Given the description of an element on the screen output the (x, y) to click on. 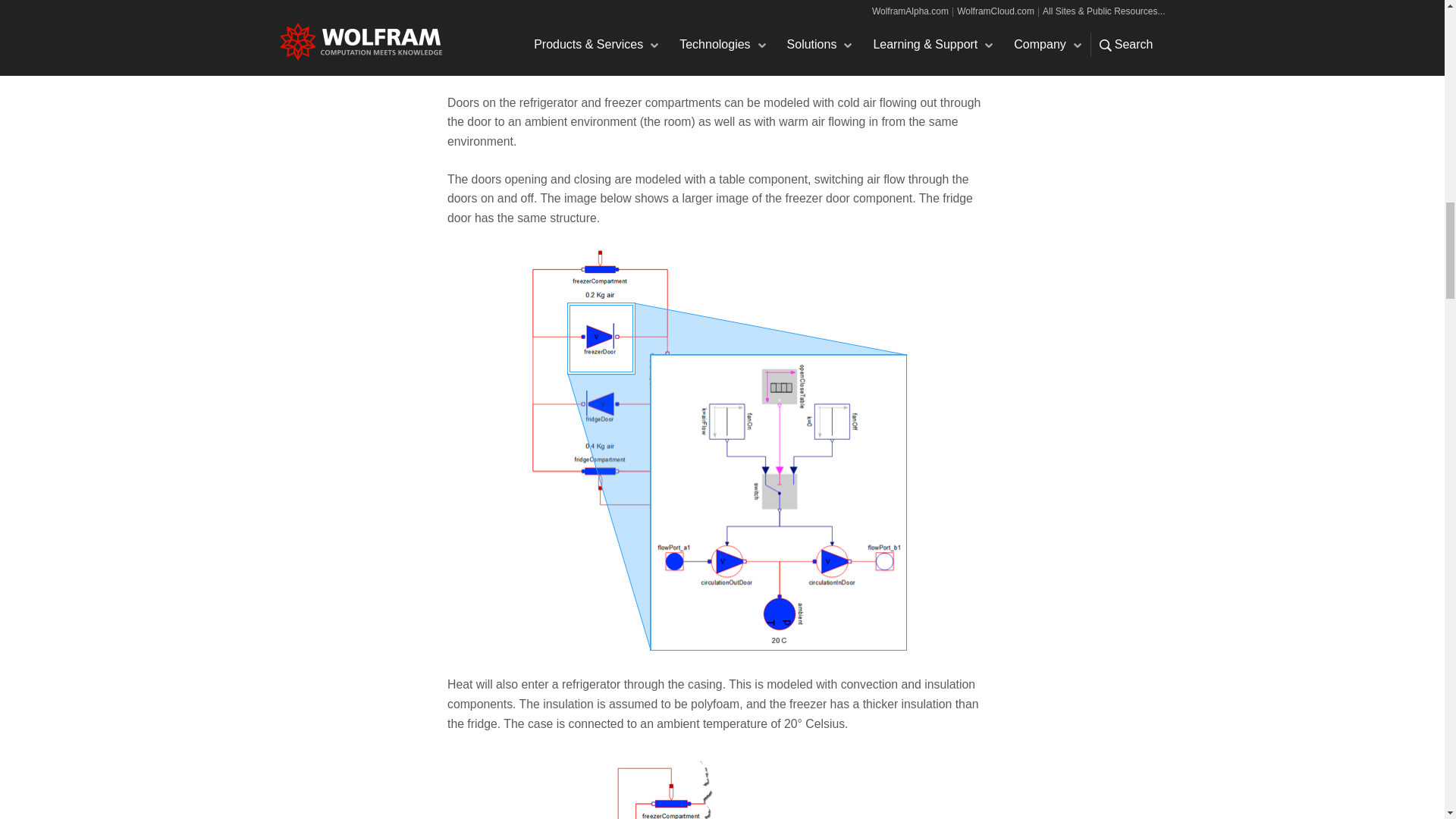
Adding convection and insulation components to the model (721, 785)
